Given the description of an element on the screen output the (x, y) to click on. 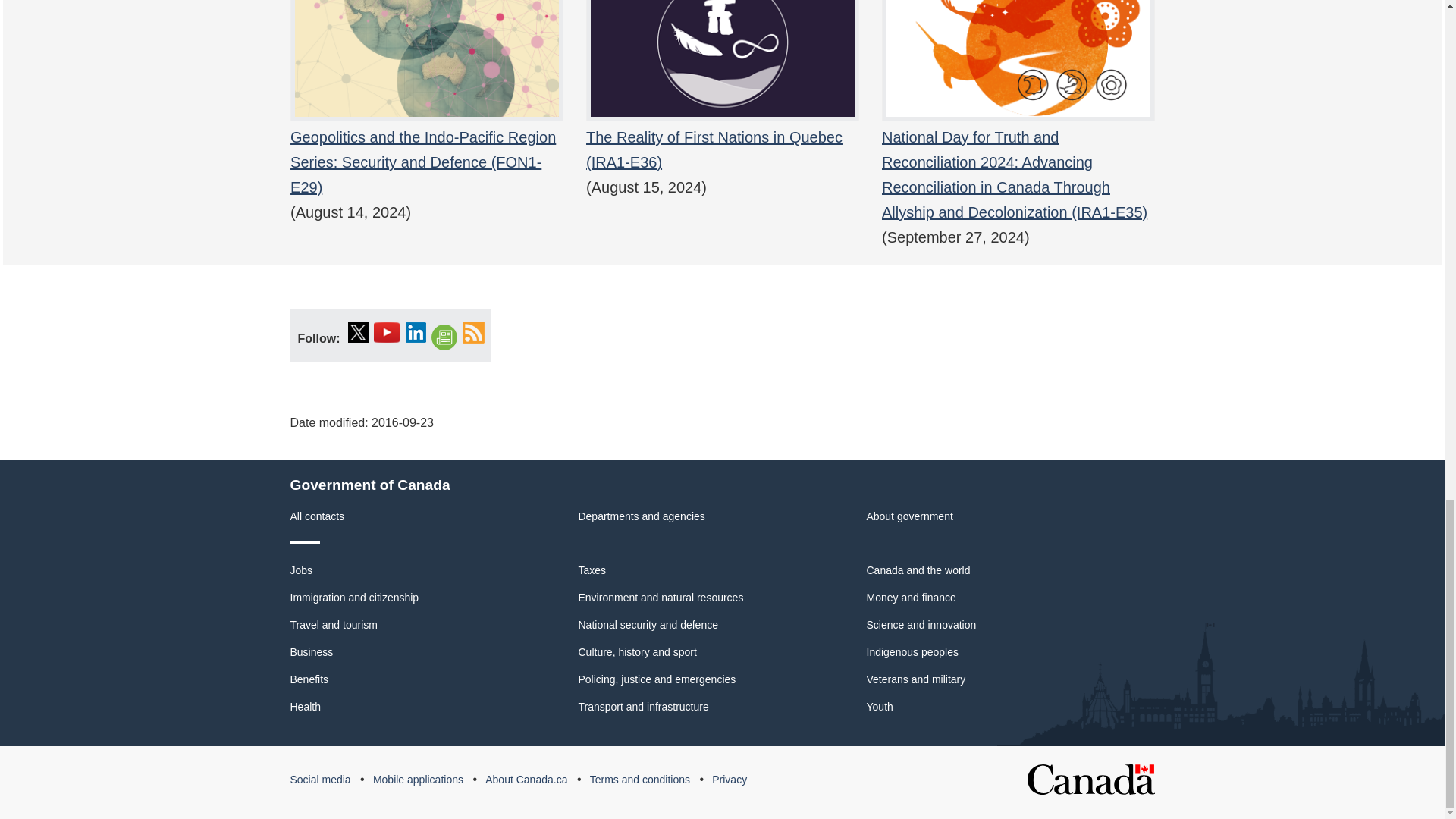
YouTube (386, 332)
About government (909, 516)
RSS (472, 332)
Twitter (357, 332)
LinkedIn (415, 332)
LinkedIn (415, 332)
YouTube (386, 332)
Departments and agencies (641, 516)
Twitter (357, 332)
All contacts (316, 516)
RSS (472, 332)
GCLearning newsletter (443, 337)
GCLearning newsletter (443, 337)
